Given the description of an element on the screen output the (x, y) to click on. 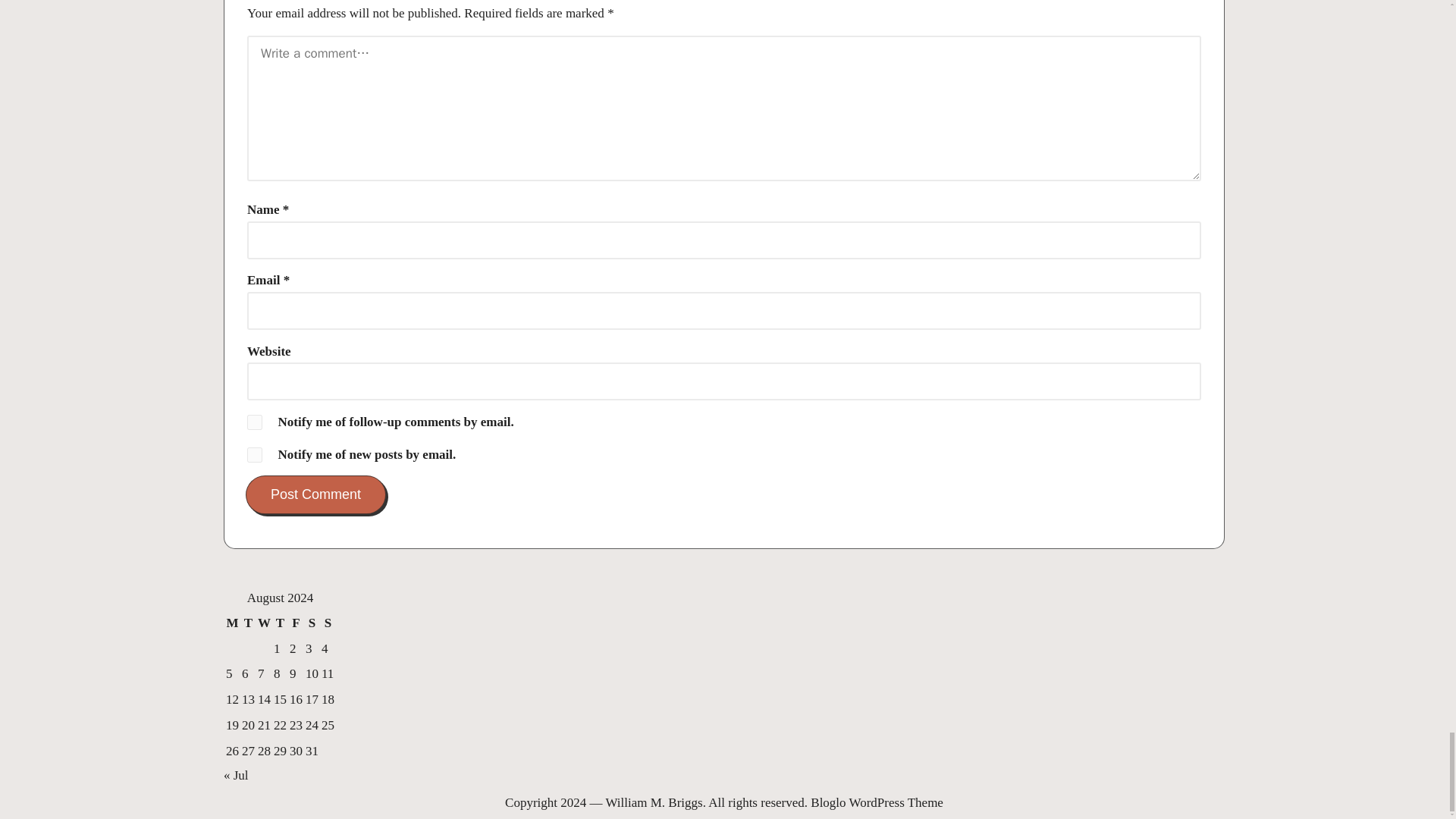
Post Comment (315, 494)
subscribe (254, 454)
Wednesday (263, 622)
Tuesday (248, 622)
subscribe (254, 421)
Monday (232, 622)
